Given the description of an element on the screen output the (x, y) to click on. 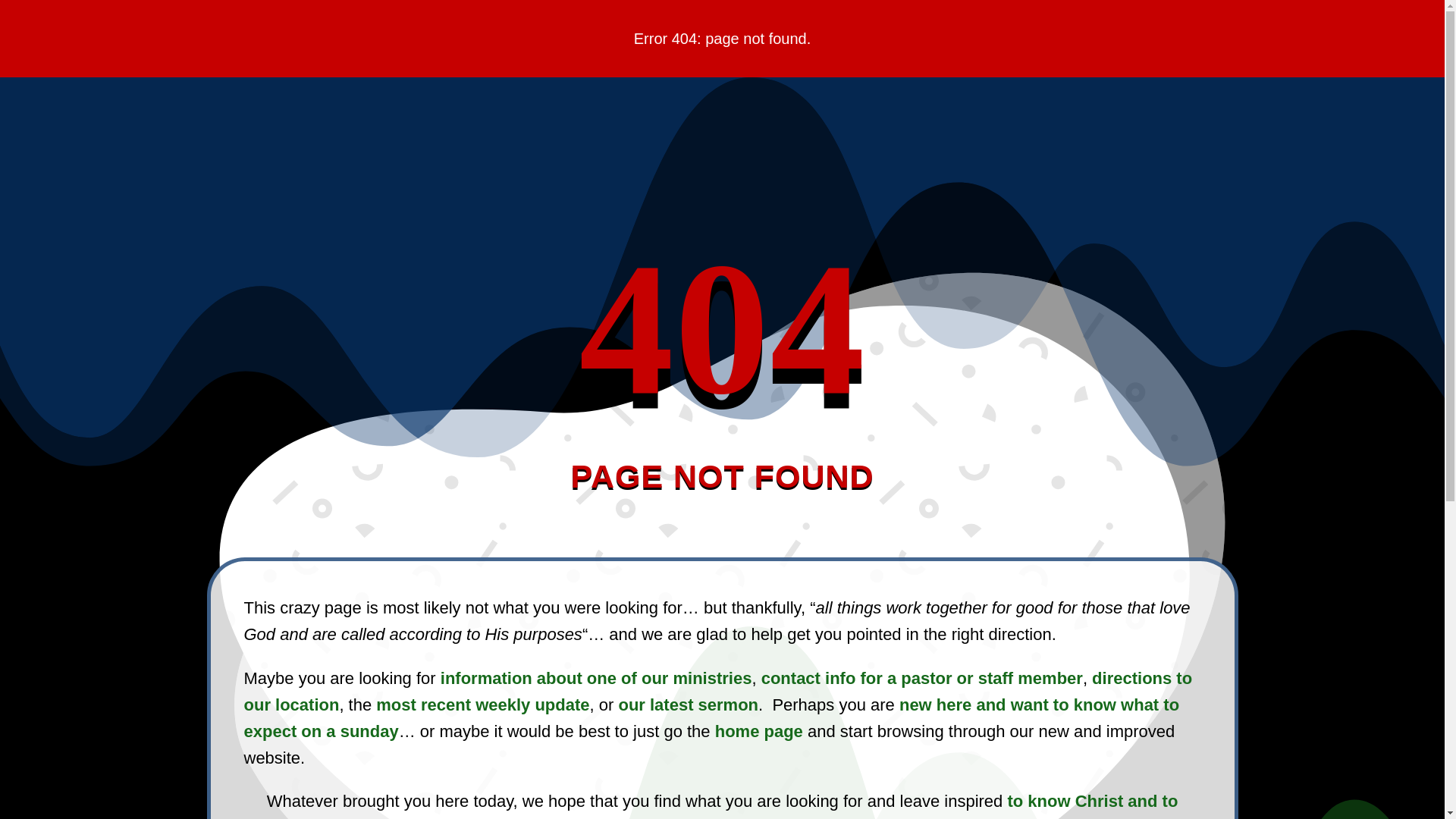
information about one of our ministries (596, 678)
directions to our location (718, 691)
new here and want to know what to expect on a sunday (711, 718)
to know Christ and to Make Him known (874, 805)
our latest sermon (687, 704)
home page (758, 731)
contact info for a pastor or staff member (922, 678)
most recent weekly update (482, 704)
